Given the description of an element on the screen output the (x, y) to click on. 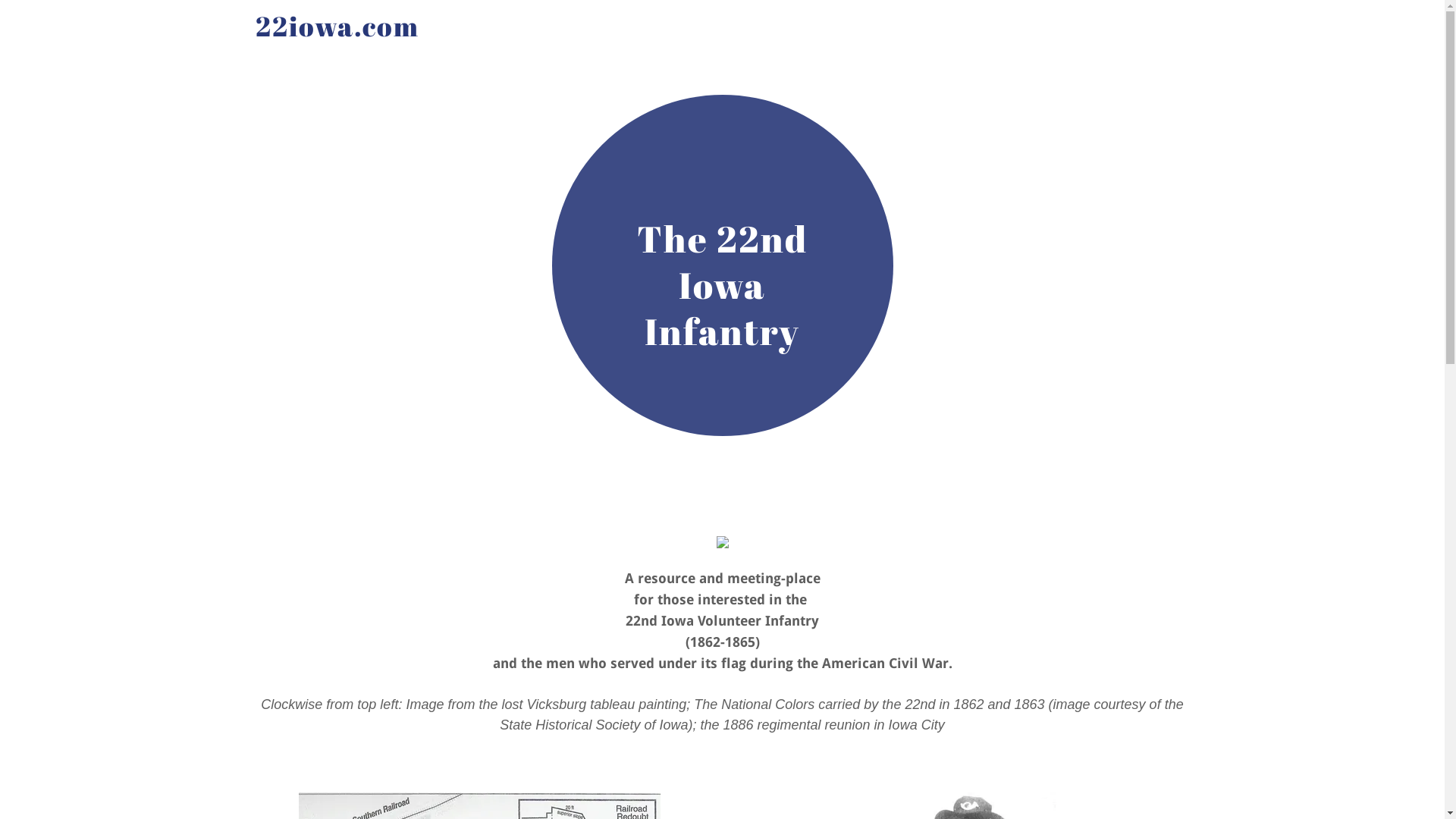
22iowa.com Element type: text (487, 31)
